Given the description of an element on the screen output the (x, y) to click on. 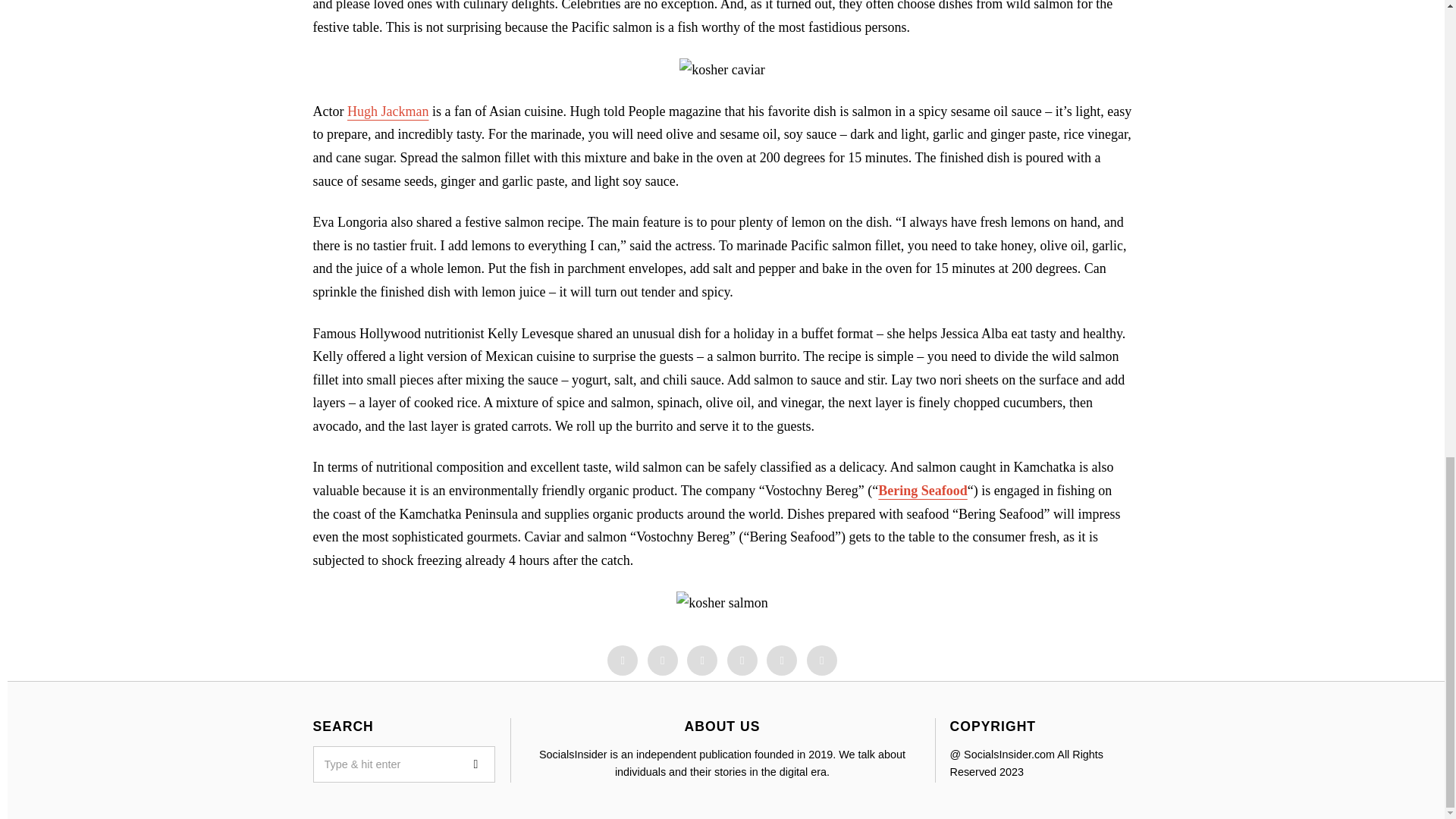
Go (476, 764)
Whatsapp (781, 660)
Email (821, 660)
Bering Seafood (922, 490)
Twitter (702, 660)
Hugh Jackman (387, 111)
Messenger (662, 660)
Linkedin (741, 660)
Facebook (622, 660)
